Given the description of an element on the screen output the (x, y) to click on. 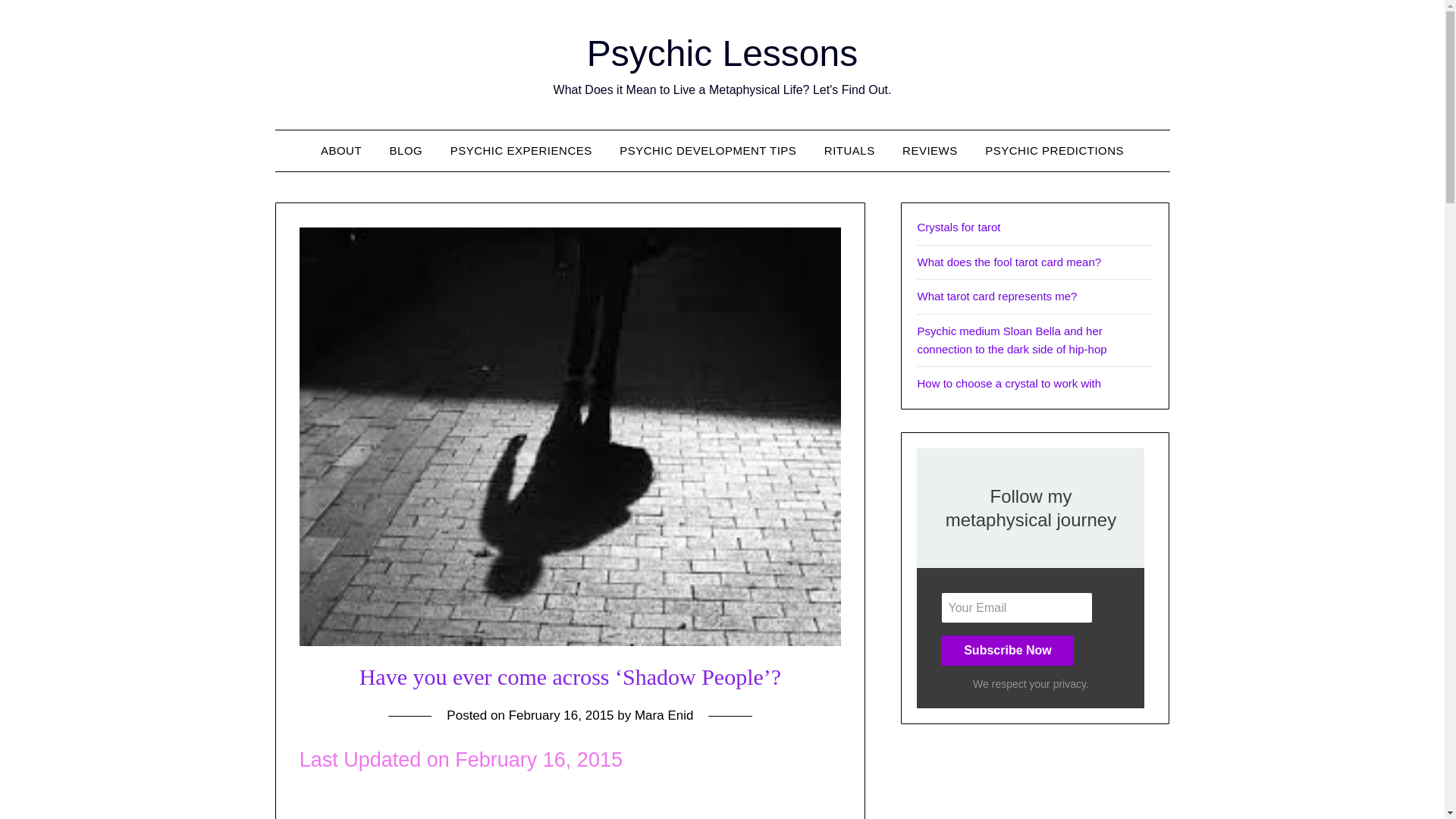
Subscribe Now (1007, 650)
BLOG (406, 150)
PSYCHIC PREDICTIONS (1053, 150)
REVIEWS (929, 150)
Subscribe Now (1007, 650)
How to choose a crystal to work with (1008, 382)
RITUALS (849, 150)
ABOUT (341, 150)
Psychic Lessons (722, 53)
